Given the description of an element on the screen output the (x, y) to click on. 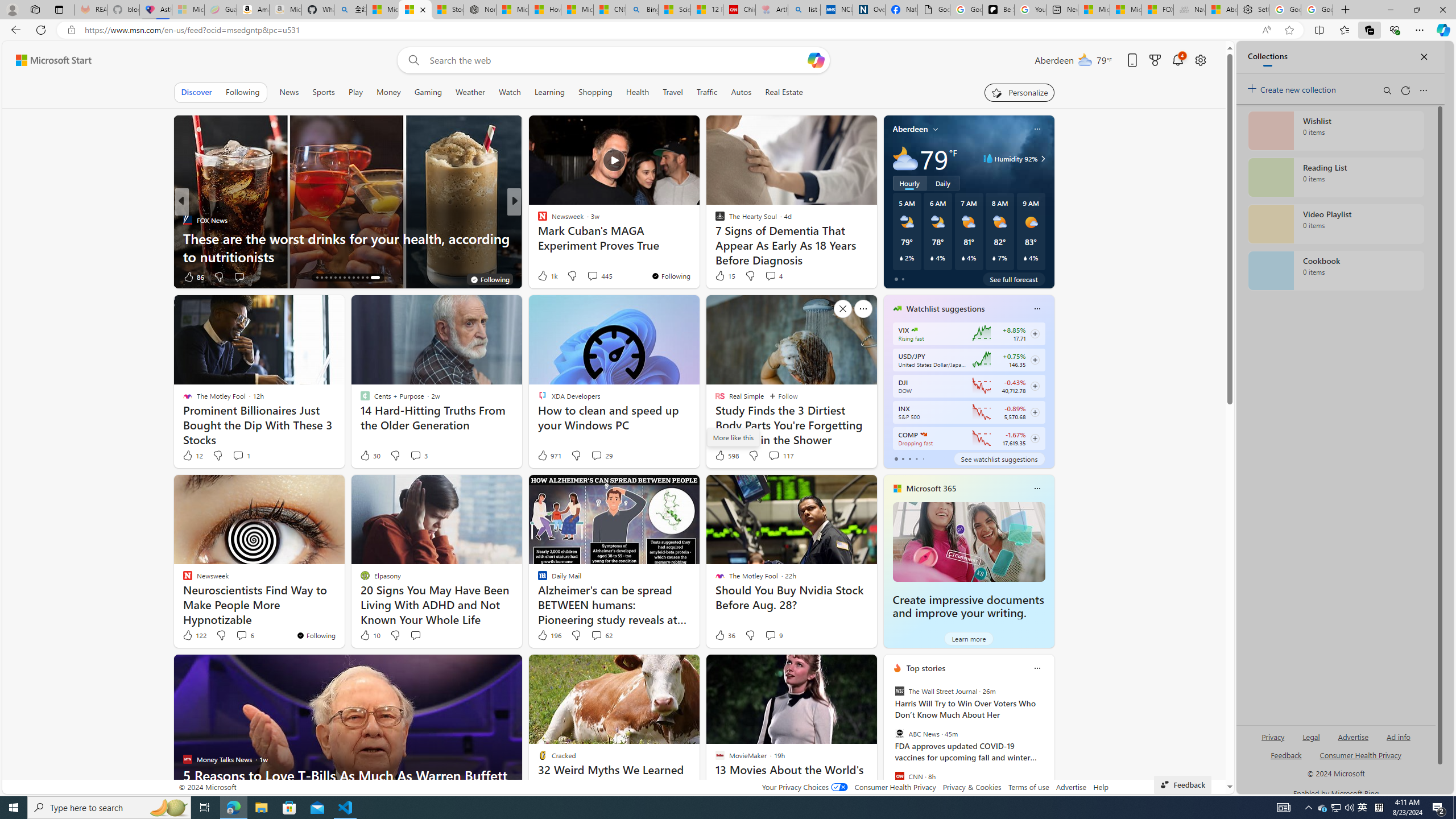
Humidity 92% (1040, 158)
15 Like (724, 275)
FOX News - MSN (1157, 9)
36 Like (724, 634)
598 Like (726, 455)
Learn more (967, 638)
View comments 445 Comment (592, 275)
See watchlist suggestions (999, 459)
AutomationID: tab-24 (362, 277)
